Given the description of an element on the screen output the (x, y) to click on. 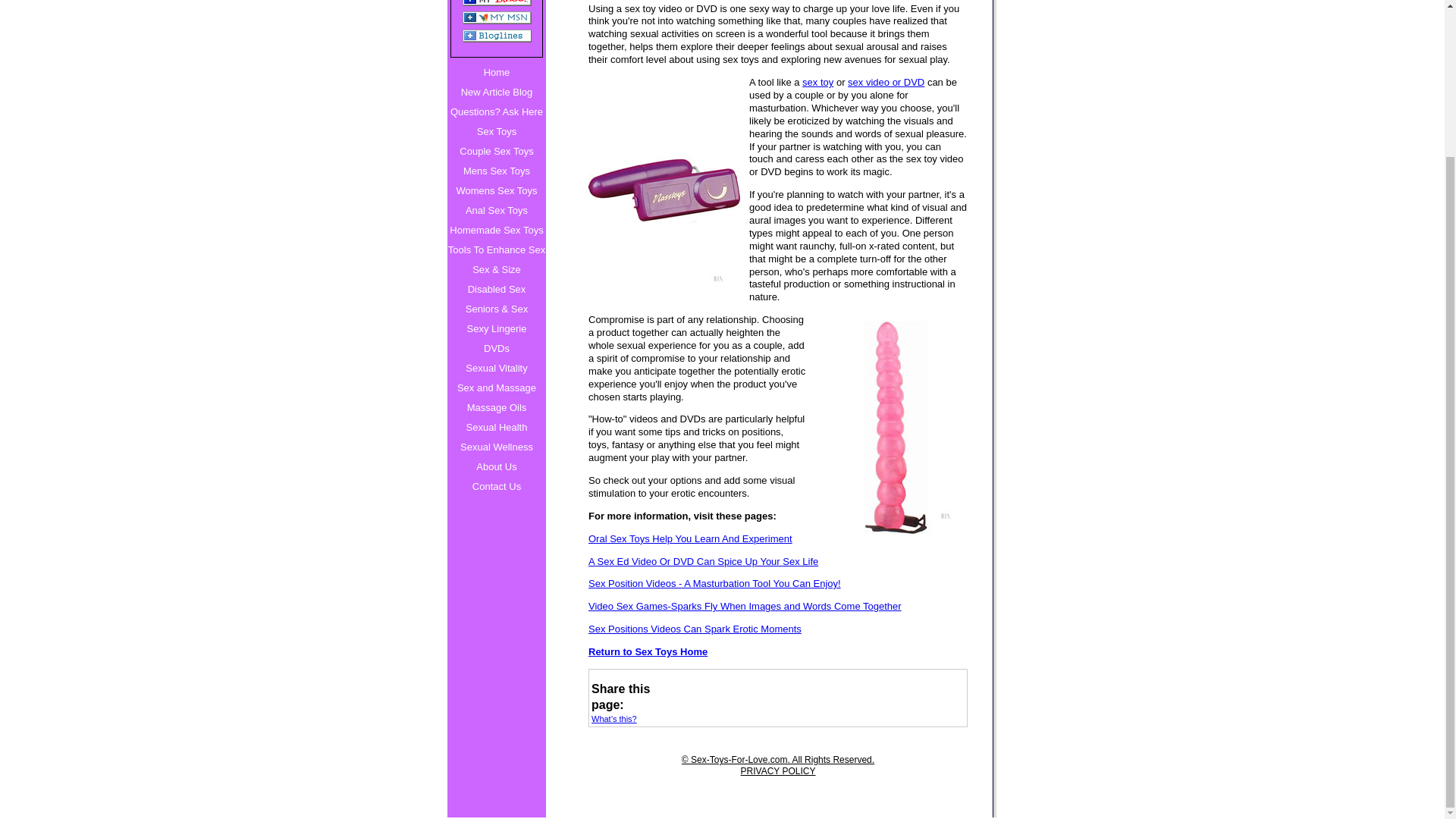
New Article Blog (496, 92)
Sex Position Videos - A Masturbation Tool You Can Enjoy! (778, 584)
Tools To Enhance Sex (496, 250)
Womens Sex Toys (496, 190)
Contact Us (496, 486)
DVDs (496, 348)
Anal Sex Toys (496, 210)
A Sex Ed Video Or DVD Can Spice Up Your Sex Life (778, 562)
Oral Sex Toys Help You Learn And Experiment (778, 539)
Sexual Wellness (496, 447)
